Given the description of an element on the screen output the (x, y) to click on. 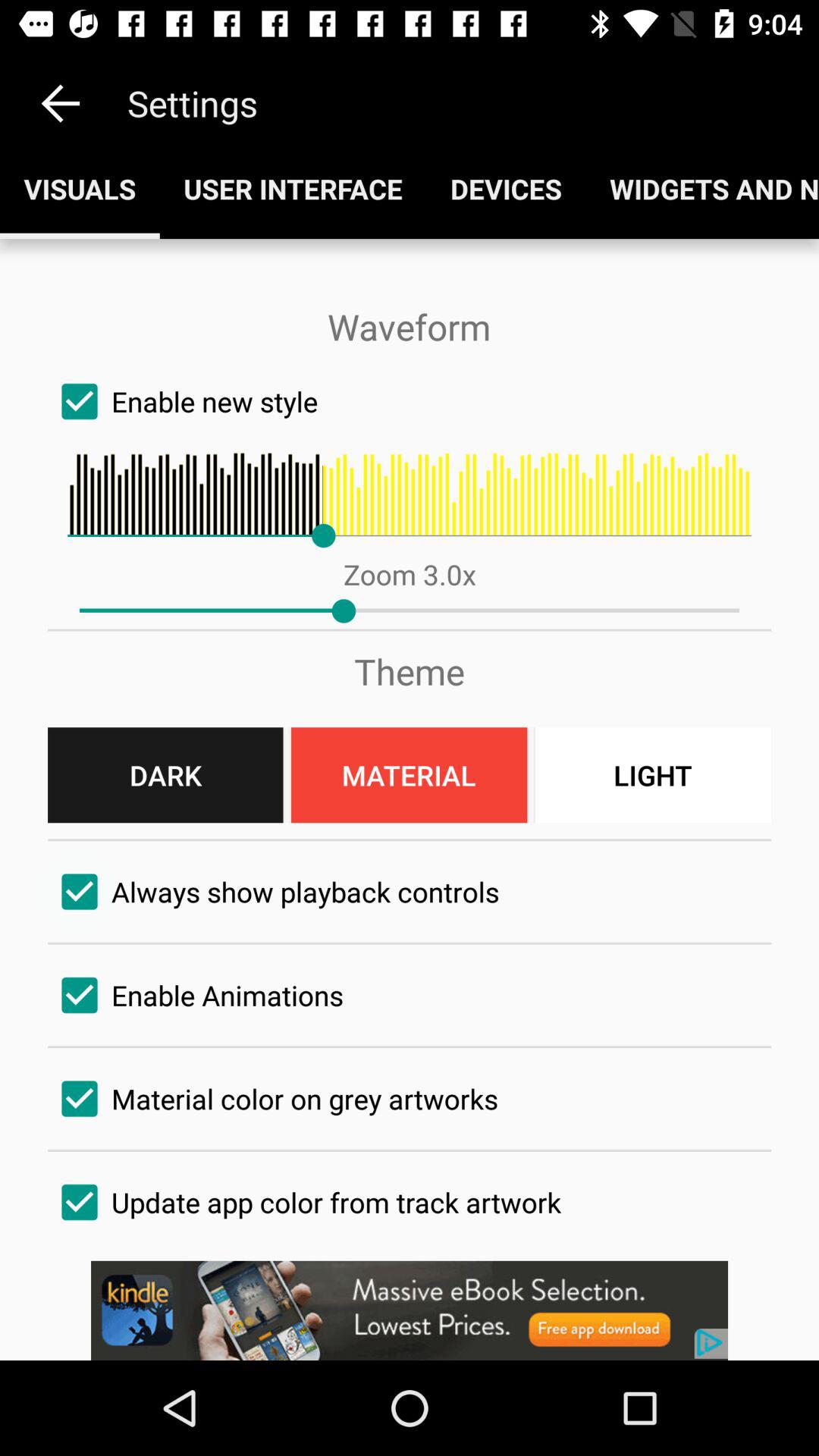
open advertisement (409, 1310)
